Given the description of an element on the screen output the (x, y) to click on. 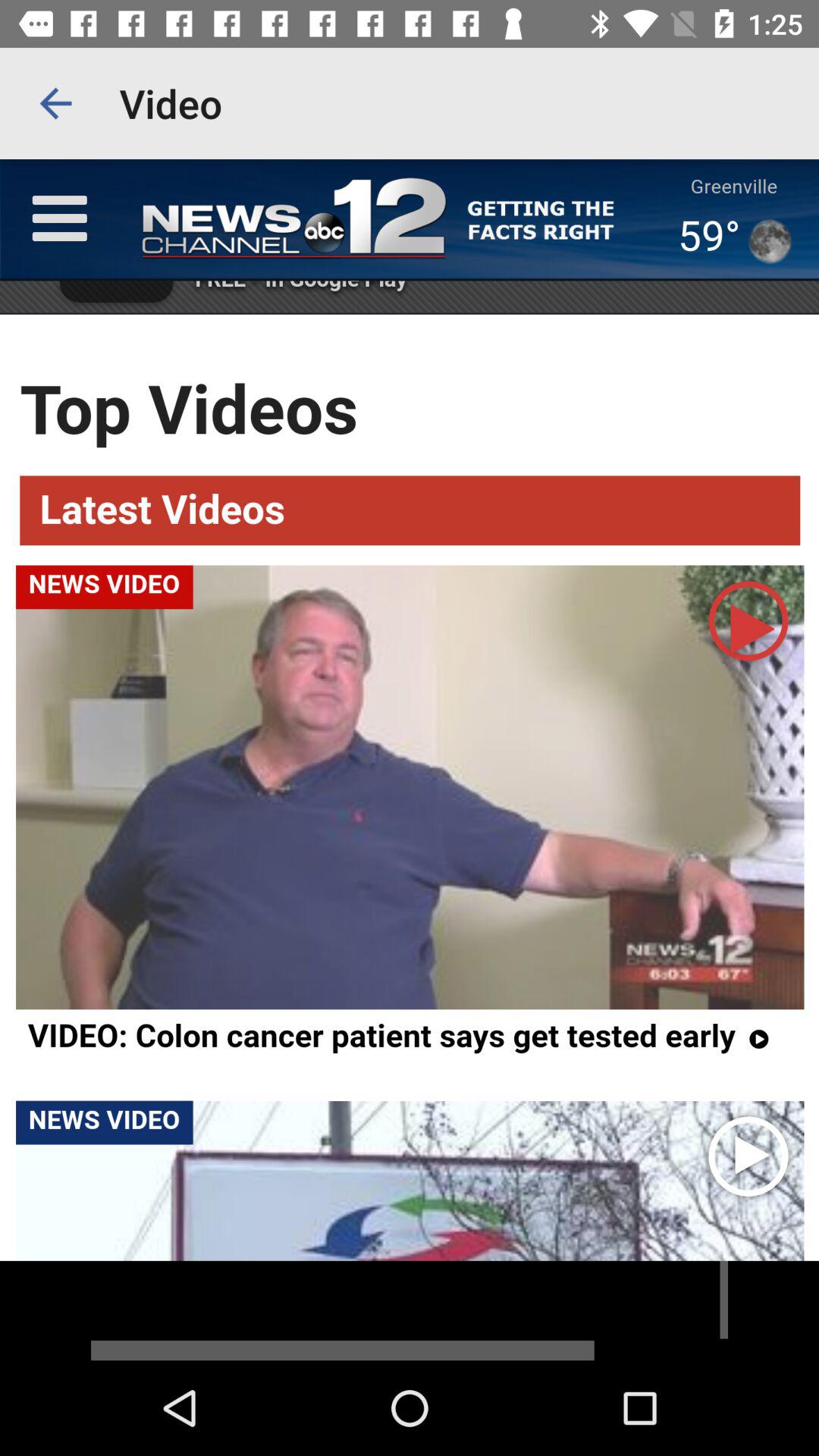
advertisement (409, 1310)
